Given the description of an element on the screen output the (x, y) to click on. 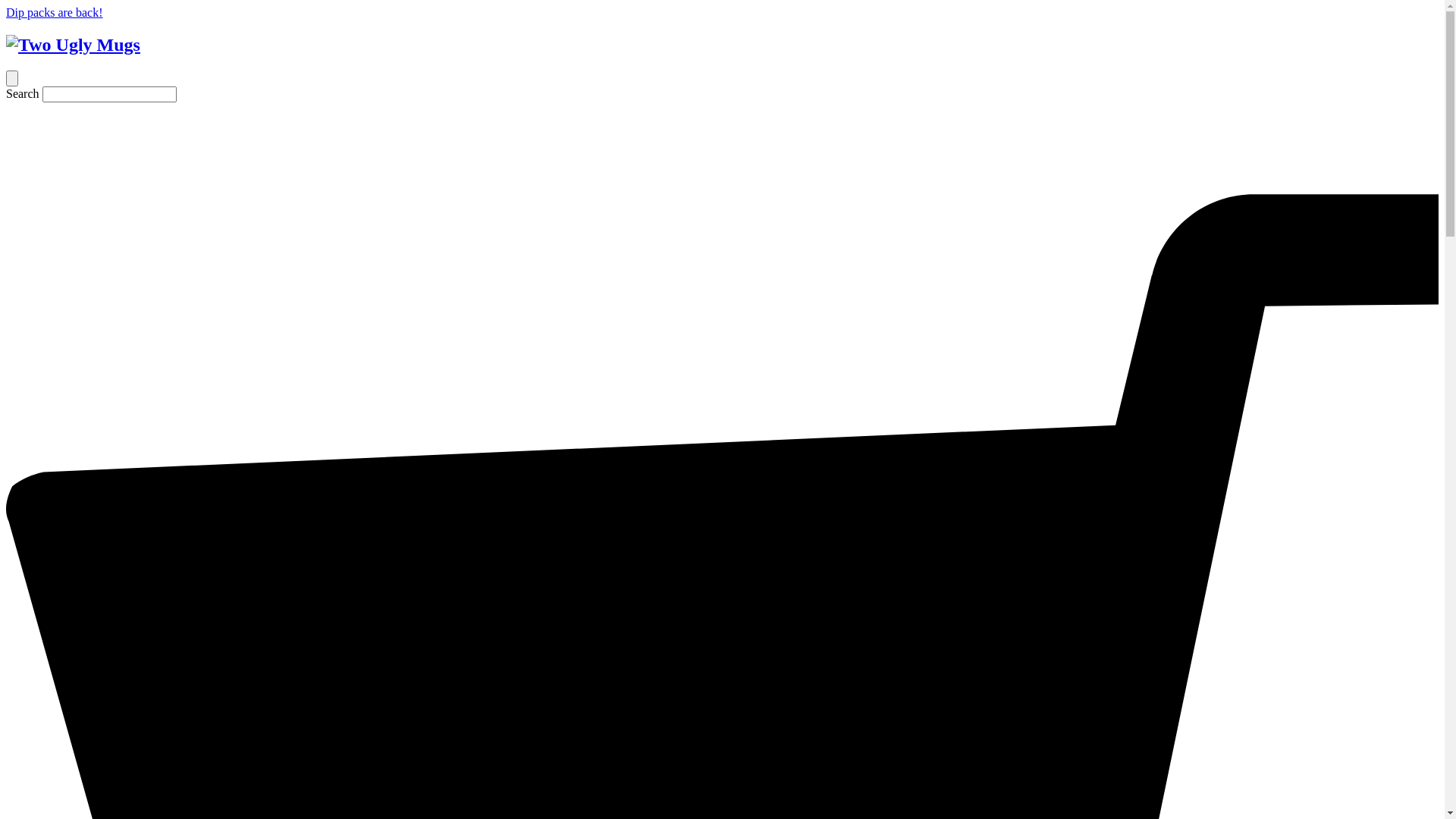
Dip packs are back! Element type: text (54, 12)
